Given the description of an element on the screen output the (x, y) to click on. 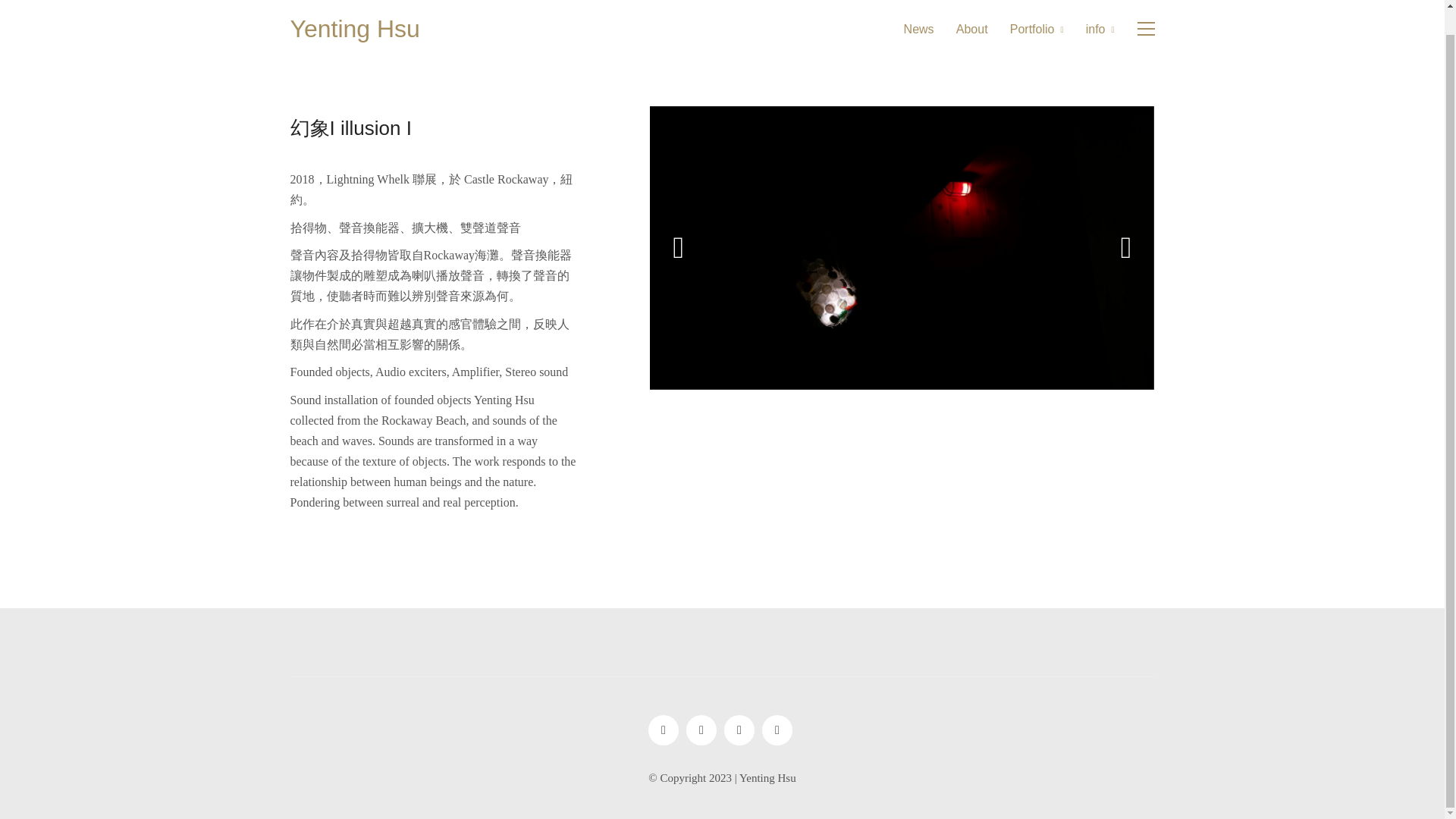
SoundCloud (700, 729)
About (972, 28)
News (919, 28)
bandcamp (738, 729)
Instagram (662, 729)
Portfolio (1037, 28)
Email (776, 729)
Yenting Hsu (354, 29)
